Given the description of an element on the screen output the (x, y) to click on. 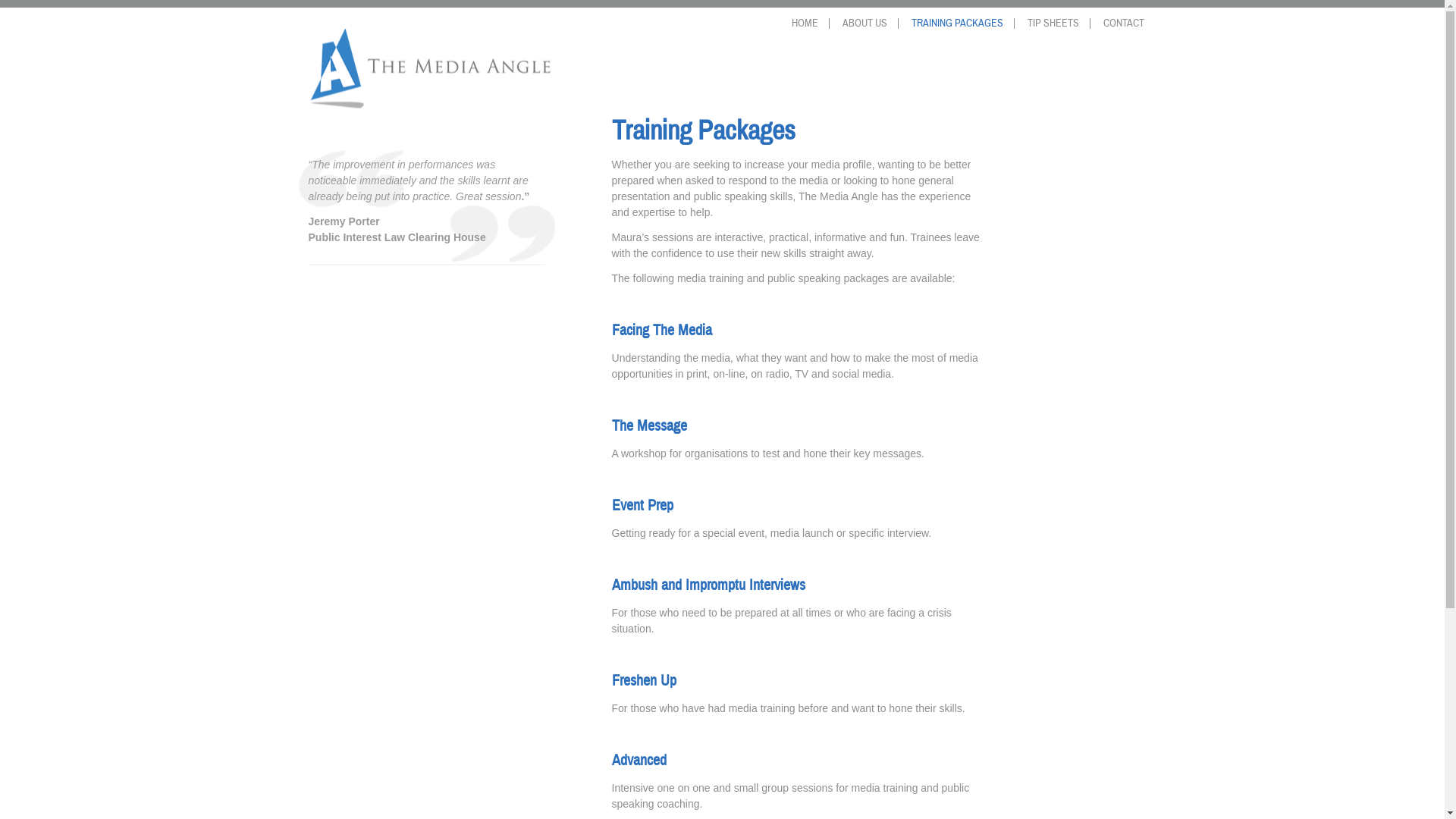
Facing The Media Element type: text (661, 329)
THE MEDIA ANGLE Element type: text (721, 68)
Ambush and Impromptu Interviews Element type: text (708, 584)
TRAINING PACKAGES Element type: text (957, 23)
The Message Element type: text (649, 425)
ABOUT US Element type: text (864, 23)
CONTACT Element type: text (1123, 23)
Advanced Element type: text (638, 759)
Event Prep Element type: text (642, 504)
TIP SHEETS Element type: text (1052, 23)
HOME Element type: text (805, 23)
Freshen Up Element type: text (643, 680)
